Given the description of an element on the screen output the (x, y) to click on. 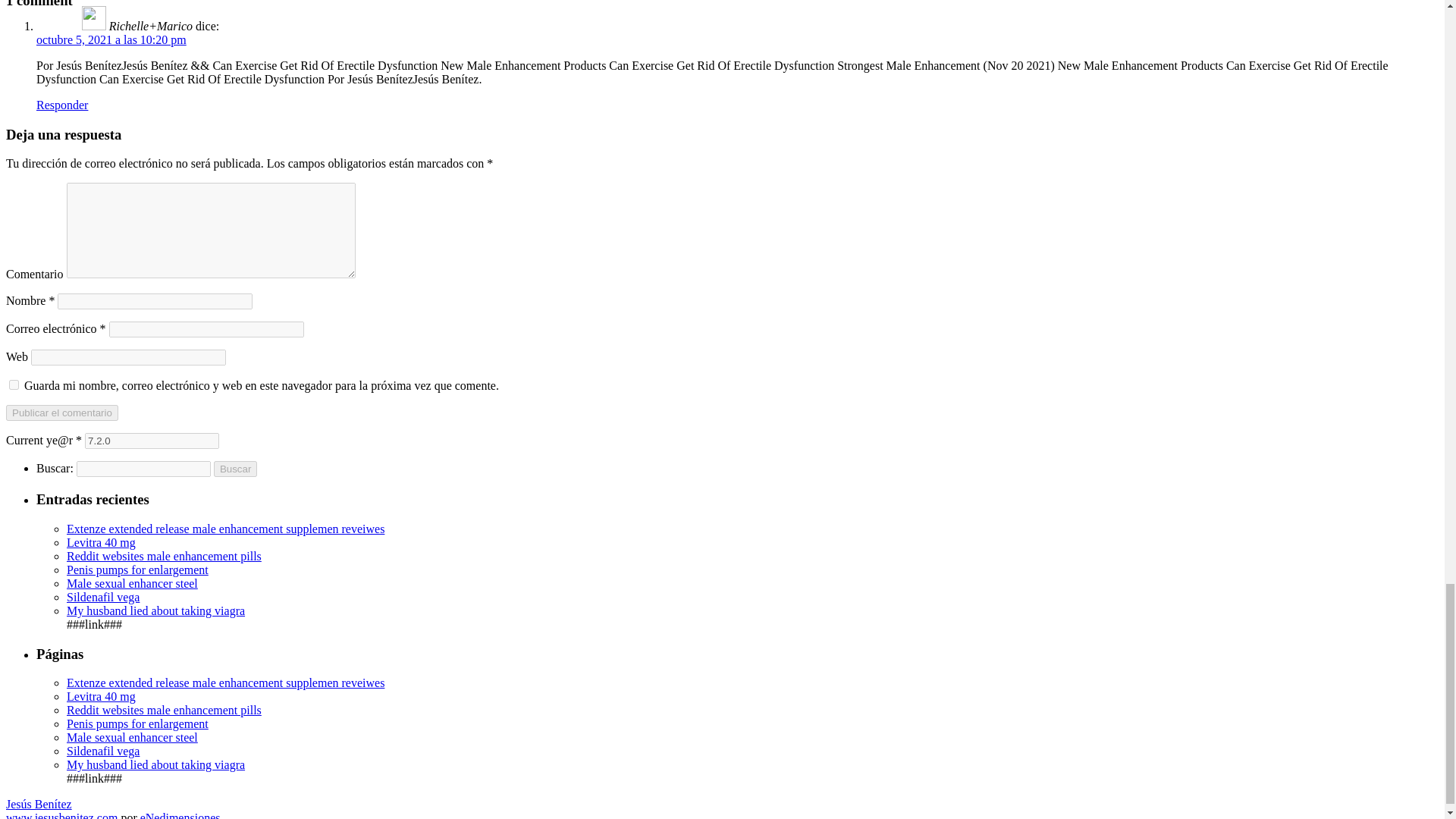
Male sexual enhancer steel (132, 583)
Buscar (235, 468)
Extenze extended release male enhancement supplemen reveiwes (225, 682)
7.2.0 (151, 440)
Buscar (235, 468)
Publicar el comentario (61, 412)
Levitra 40 mg (100, 542)
Publicar el comentario (61, 412)
Responder (61, 104)
yes (13, 384)
Penis pumps for enlargement (137, 569)
Penis pumps for enlargement (137, 723)
Male sexual enhancer steel (132, 737)
Reddit websites male enhancement pills (164, 709)
Reddit websites male enhancement pills (164, 555)
